Given the description of an element on the screen output the (x, y) to click on. 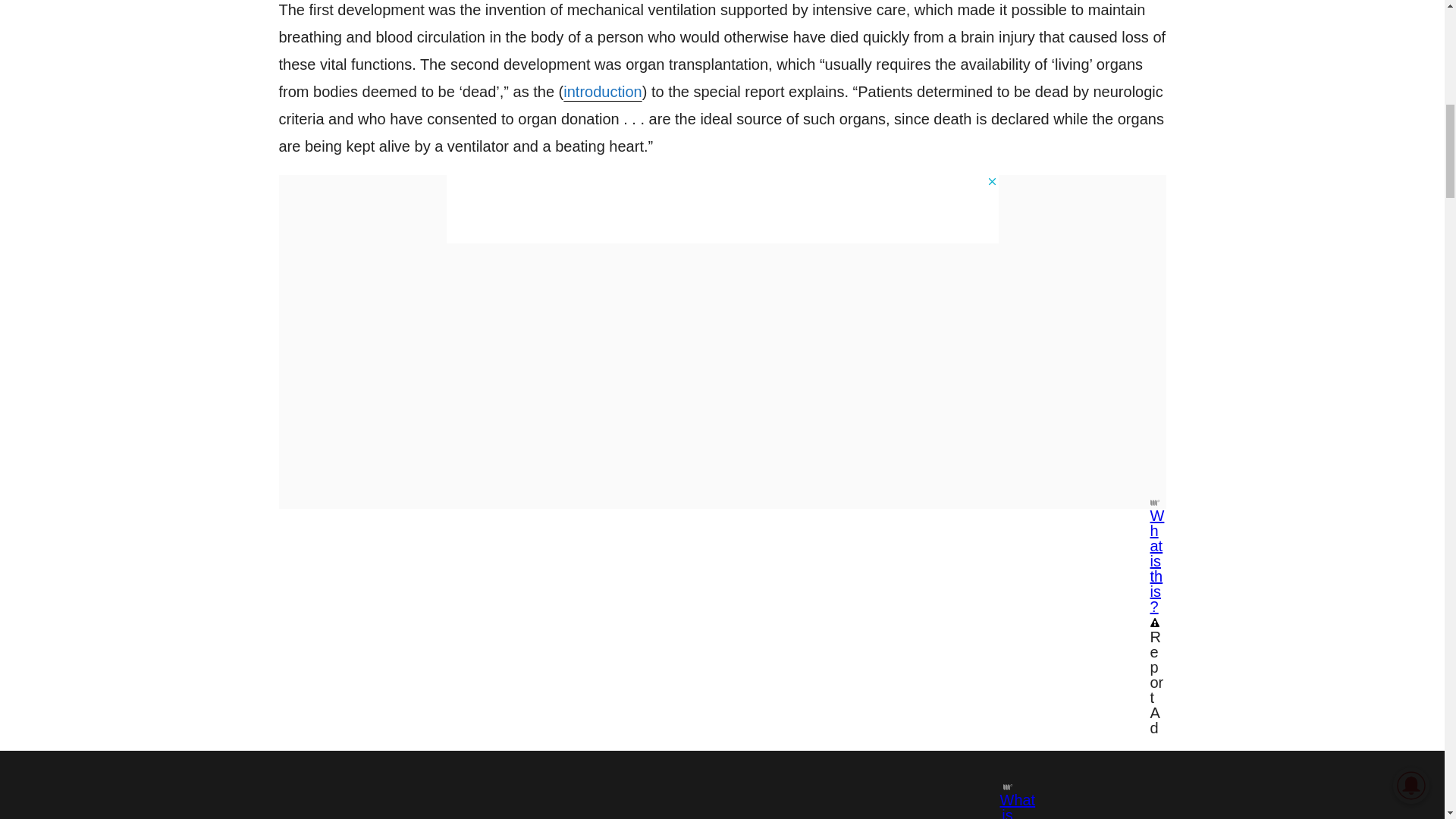
introduction (602, 91)
3rd party ad content (721, 209)
